Given the description of an element on the screen output the (x, y) to click on. 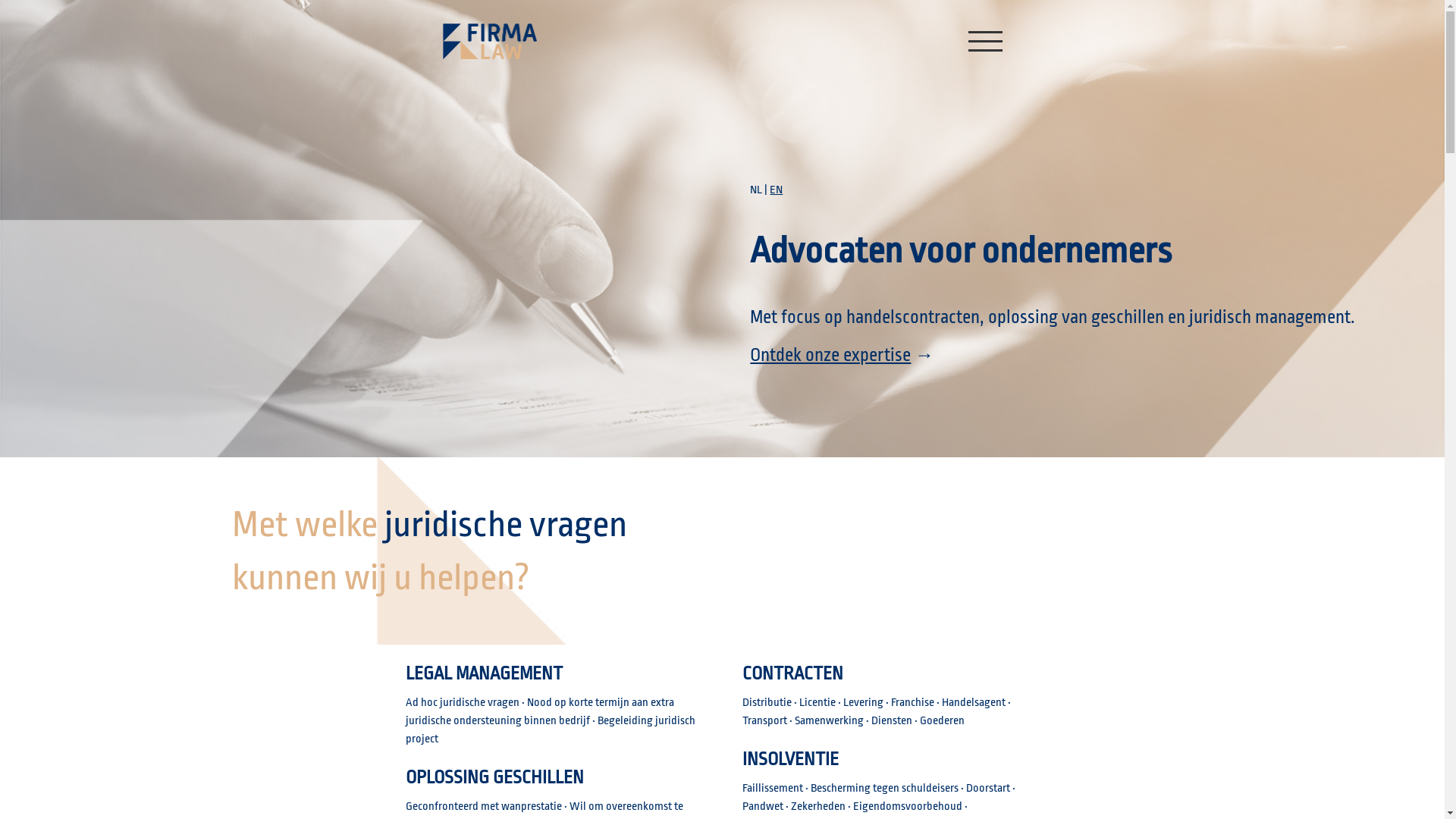
EN Element type: text (775, 189)
Ontdek onze expertise Element type: text (829, 355)
